Given the description of an element on the screen output the (x, y) to click on. 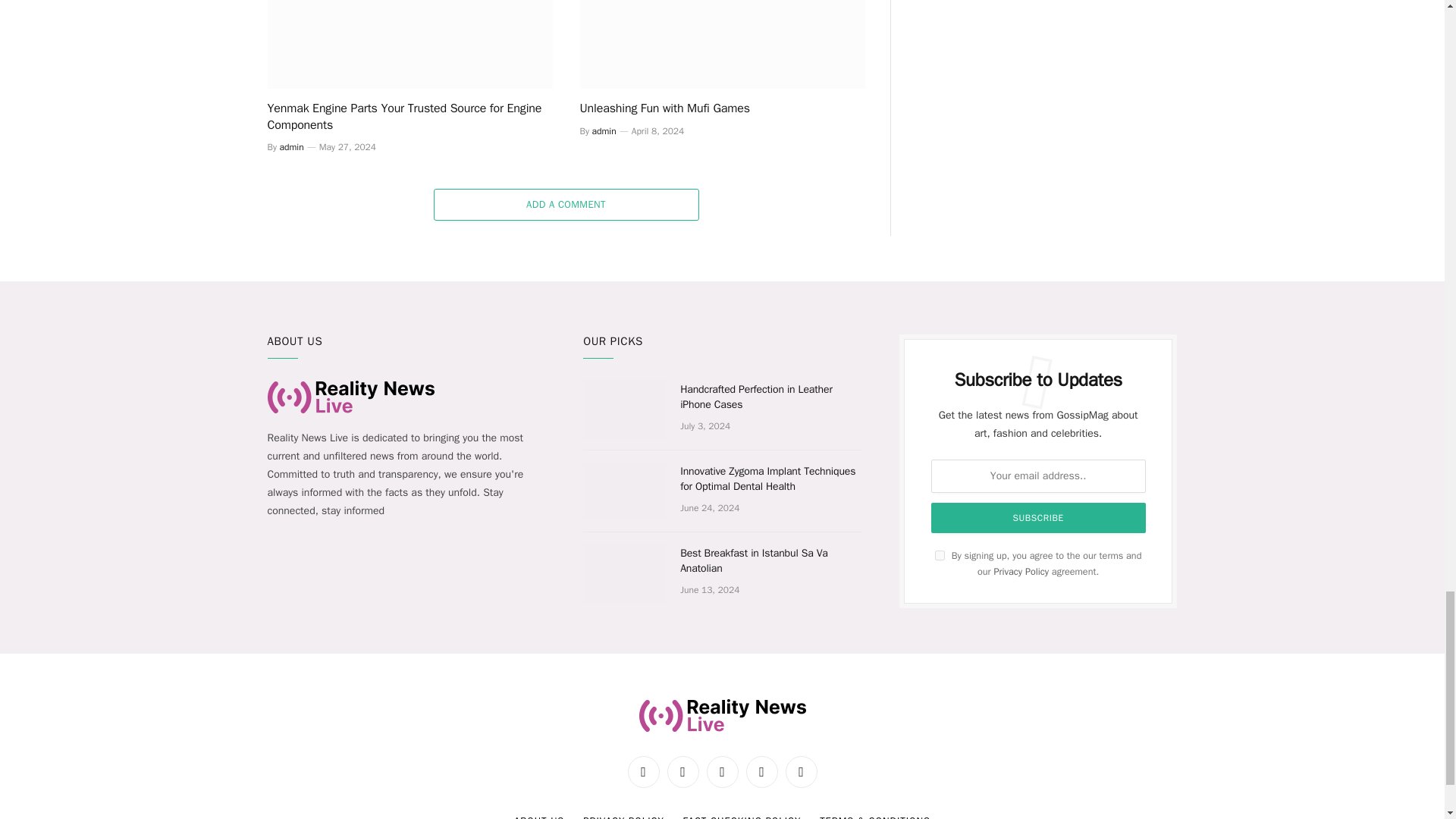
Subscribe (1038, 517)
on (939, 555)
